Given the description of an element on the screen output the (x, y) to click on. 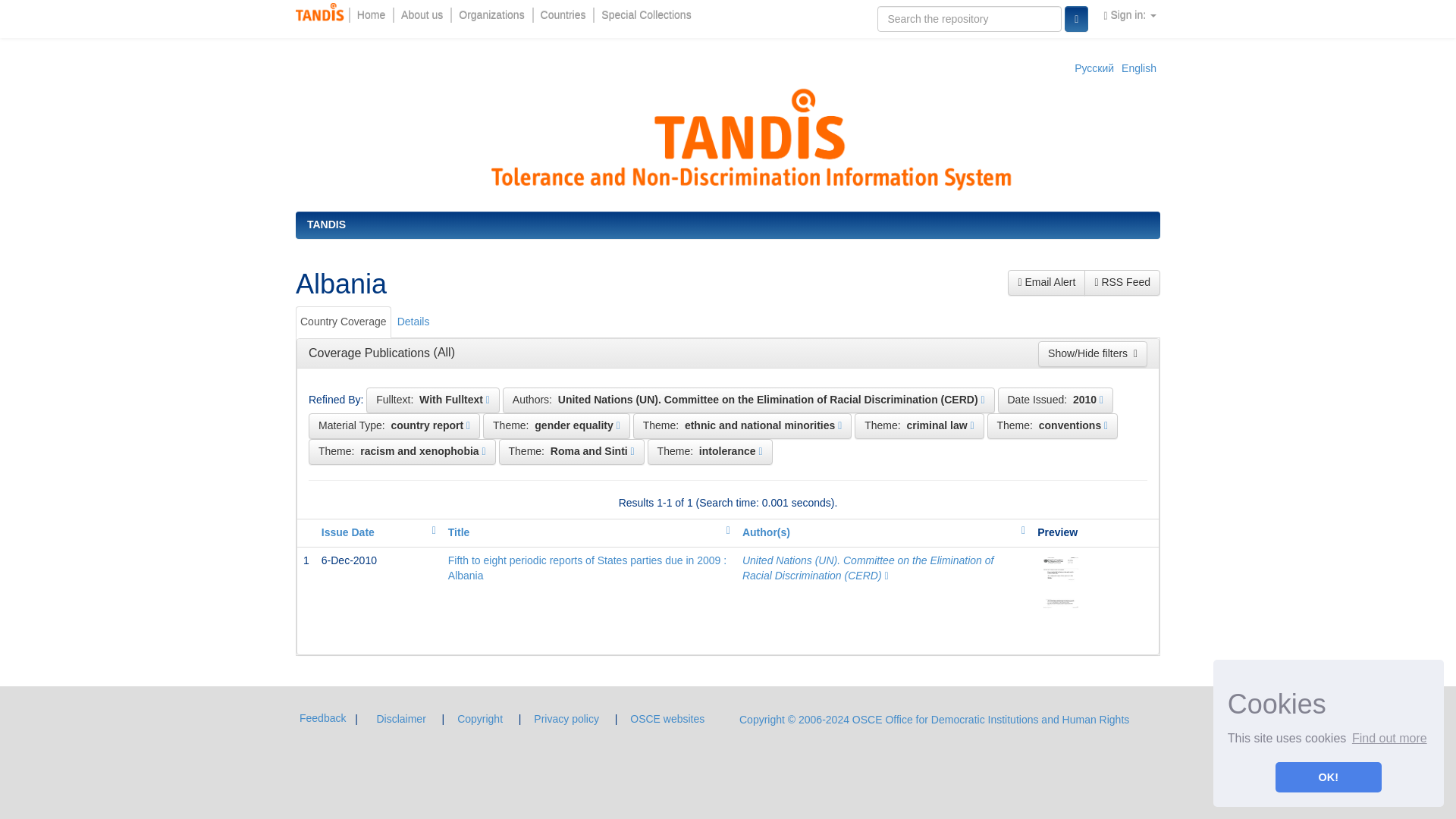
TANDIS (326, 224)
Details (413, 322)
Sign in: (1129, 15)
RSS Feed (1122, 282)
Organizations (490, 15)
Email Alert (1045, 282)
English (1139, 68)
Home (370, 15)
Coverage Publications (370, 352)
Special Collections (645, 15)
Country Coverage (343, 322)
About us (421, 15)
Countries (563, 15)
